Given the description of an element on the screen output the (x, y) to click on. 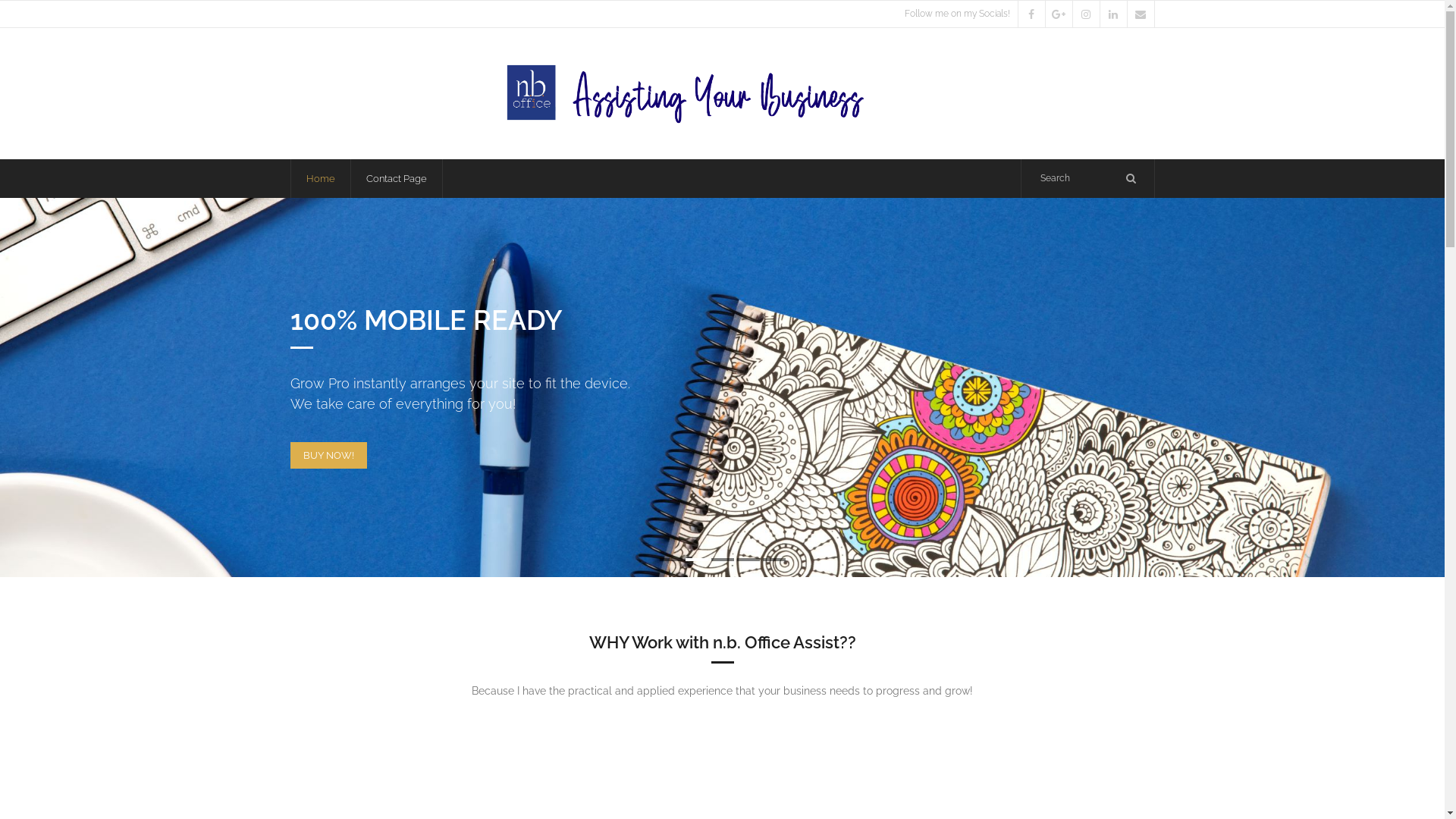
Search Element type: text (33, 15)
Home Element type: text (319, 178)
2 Element type: text (696, 559)
BUY NOW! Element type: text (327, 455)
4 Element type: text (748, 559)
Contact Page Element type: text (396, 178)
5 Element type: text (773, 559)
1 Element type: text (670, 559)
3 Element type: text (722, 559)
